Given the description of an element on the screen output the (x, y) to click on. 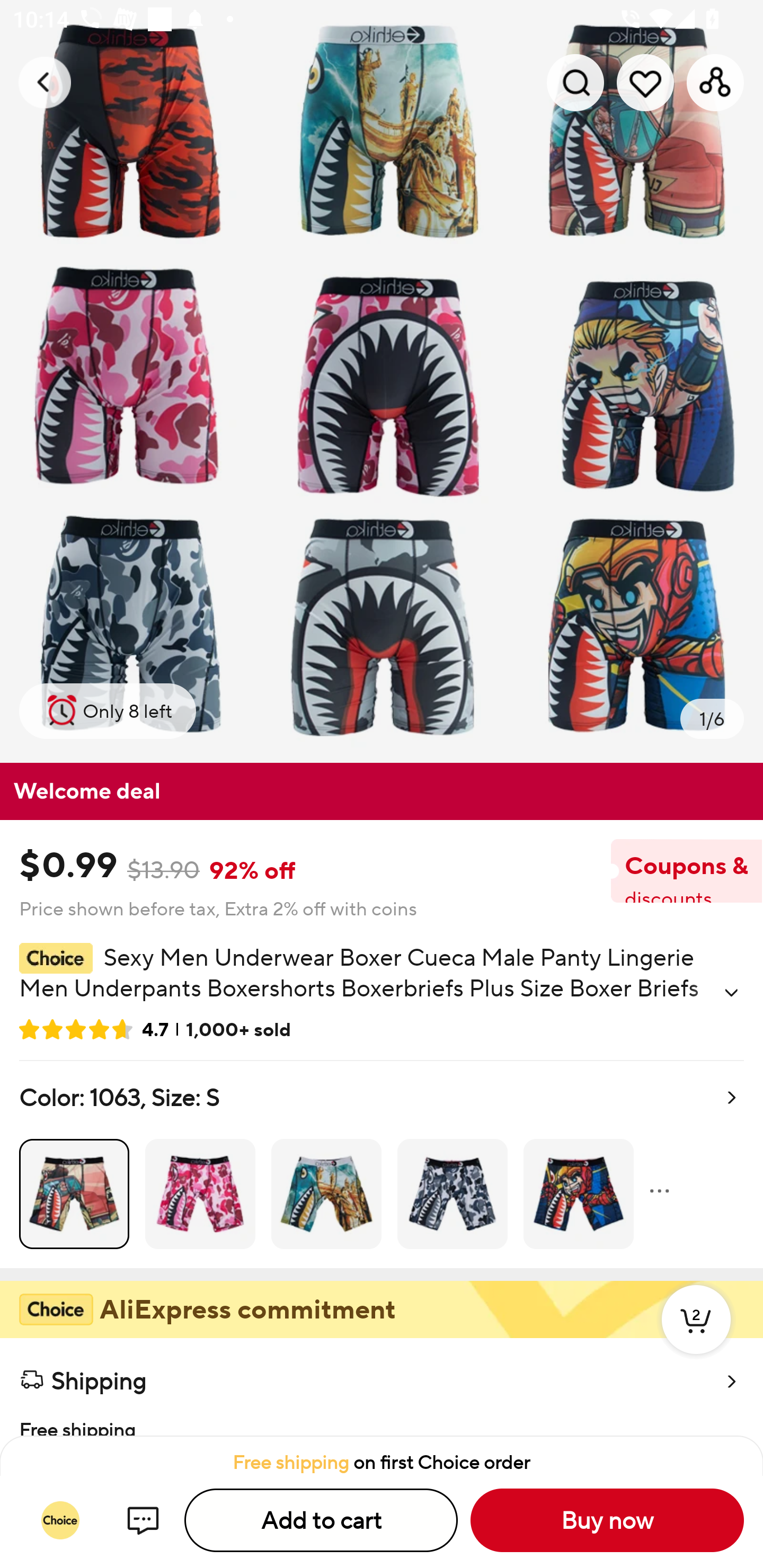
Navigate up (44, 82)
 (730, 992)
Color: 1063, Size: S  (381, 1164)
2 (695, 1338)
Shipping  Free shipping  (381, 1386)
Free shipping  (381, 1418)
Add to cart (320, 1520)
Buy now (606, 1520)
